Given the description of an element on the screen output the (x, y) to click on. 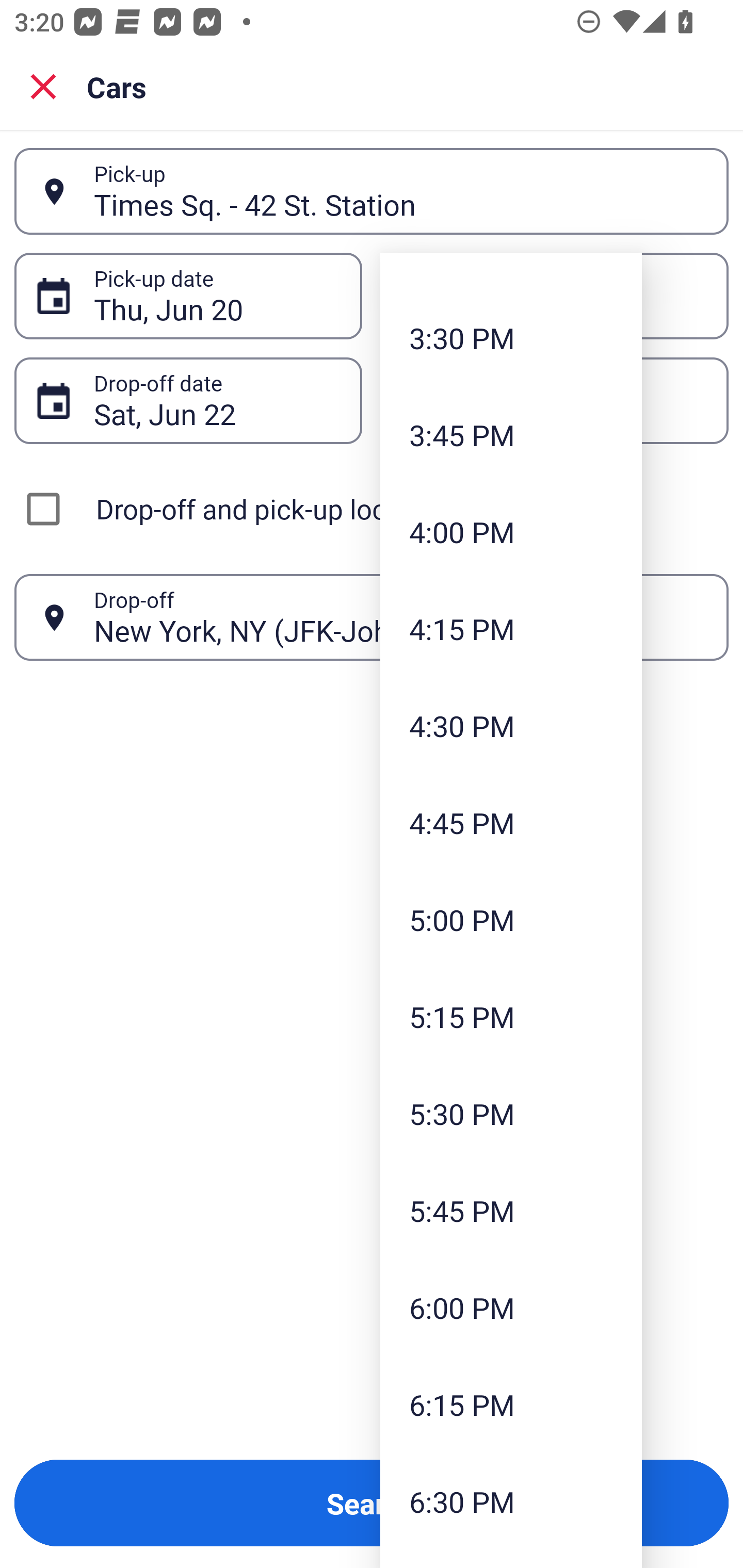
3:30 PM (510, 337)
3:45 PM (510, 433)
4:00 PM (510, 531)
4:15 PM (510, 628)
4:30 PM (510, 725)
4:45 PM (510, 822)
5:00 PM (510, 919)
5:15 PM (510, 1015)
5:30 PM (510, 1112)
5:45 PM (510, 1210)
6:00 PM (510, 1307)
6:15 PM (510, 1404)
6:30 PM (510, 1501)
